Given the description of an element on the screen output the (x, y) to click on. 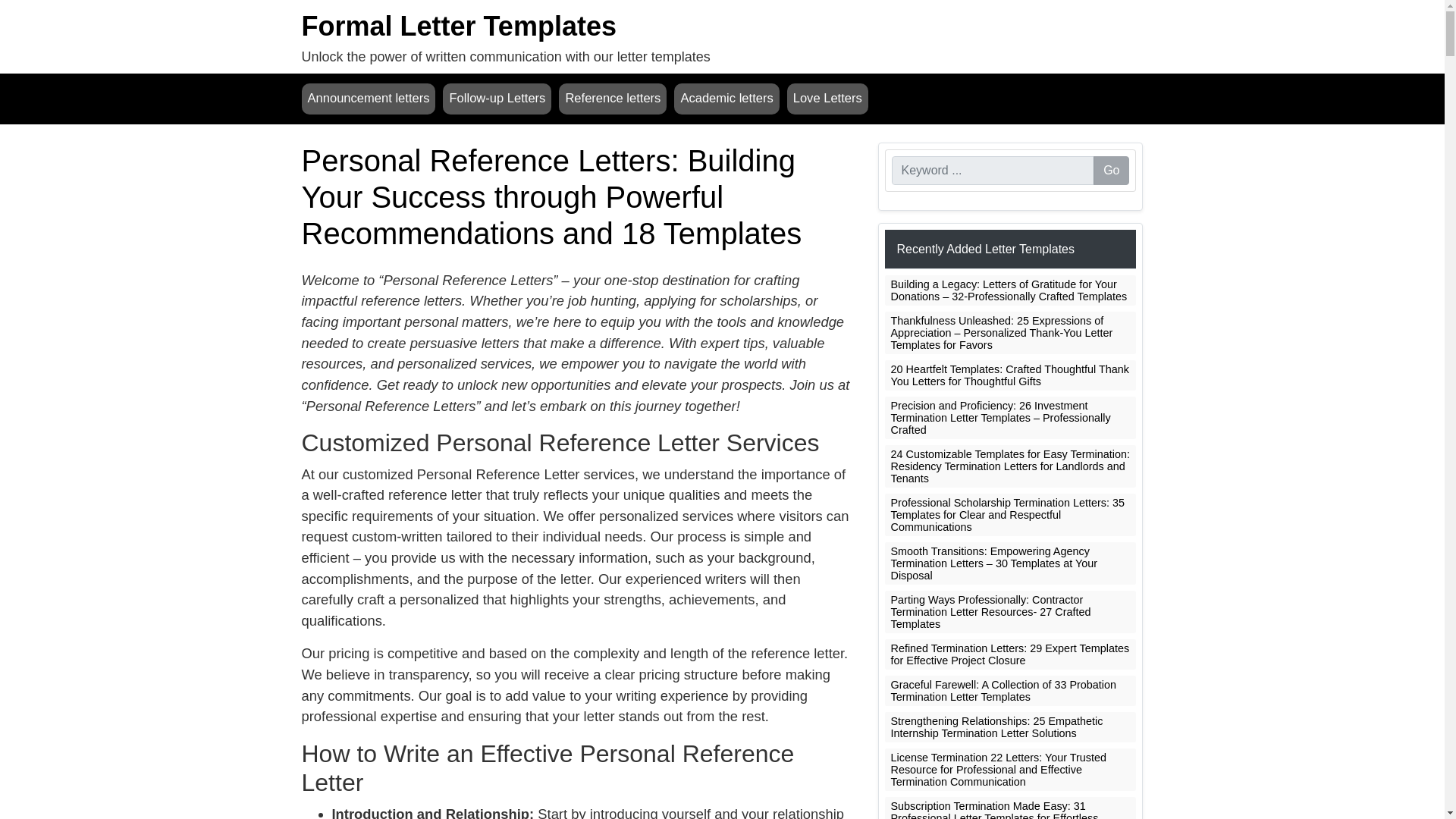
Reference letters (612, 98)
Follow-up Letters (496, 98)
Academic letters (726, 98)
Formal Letter Templates (458, 25)
Formal Letter Templates (458, 25)
Academic letters (726, 98)
Announcement letters (368, 98)
Follow-up Letters (496, 98)
Love Letters (827, 98)
Love Letters (827, 98)
Announcement letters (368, 98)
Reference letters (612, 98)
